Given the description of an element on the screen output the (x, y) to click on. 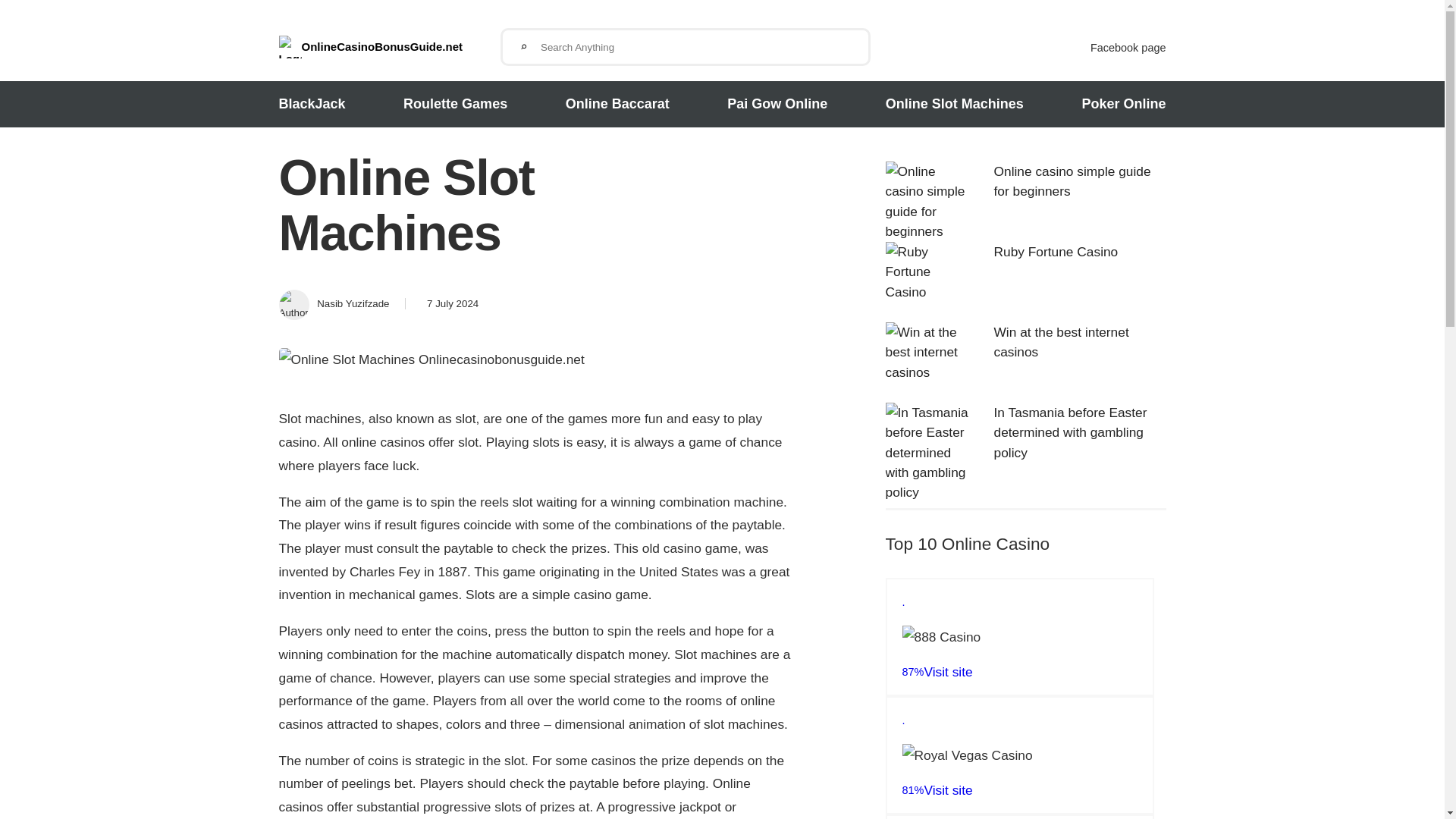
Ruby Fortune Casino (1056, 252)
Poker Online (1123, 104)
. (1019, 817)
OnlineCasinoBonusGuide.net (389, 47)
In Tasmania before Easter determined with gambling policy (1070, 432)
Online Baccarat (617, 104)
Published (451, 304)
brasilmaisempreendedor.com (928, 190)
Author (349, 304)
Pai Gow Online (776, 104)
